Given the description of an element on the screen output the (x, y) to click on. 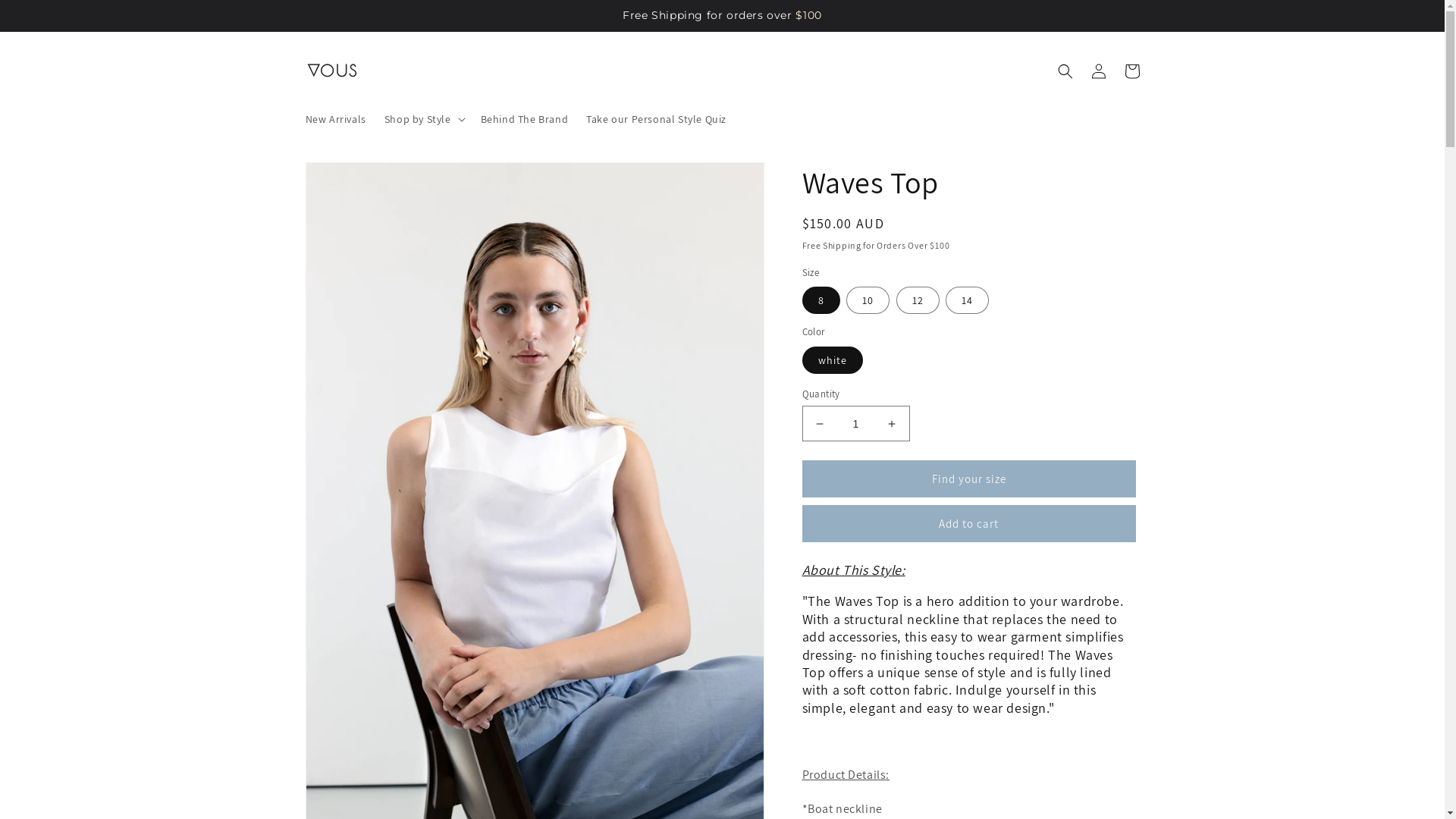
Take our Personal Style Quiz Element type: text (656, 118)
Decrease quantity for Waves Top Element type: text (819, 423)
Increase quantity for Waves Top Element type: text (892, 423)
Behind The Brand Element type: text (524, 118)
Find your size Element type: text (968, 478)
Skip to product information Element type: text (351, 179)
New Arrivals Element type: text (334, 118)
Log in Element type: text (1097, 70)
Add to cart Element type: text (968, 523)
Cart Element type: text (1131, 70)
